Given the description of an element on the screen output the (x, y) to click on. 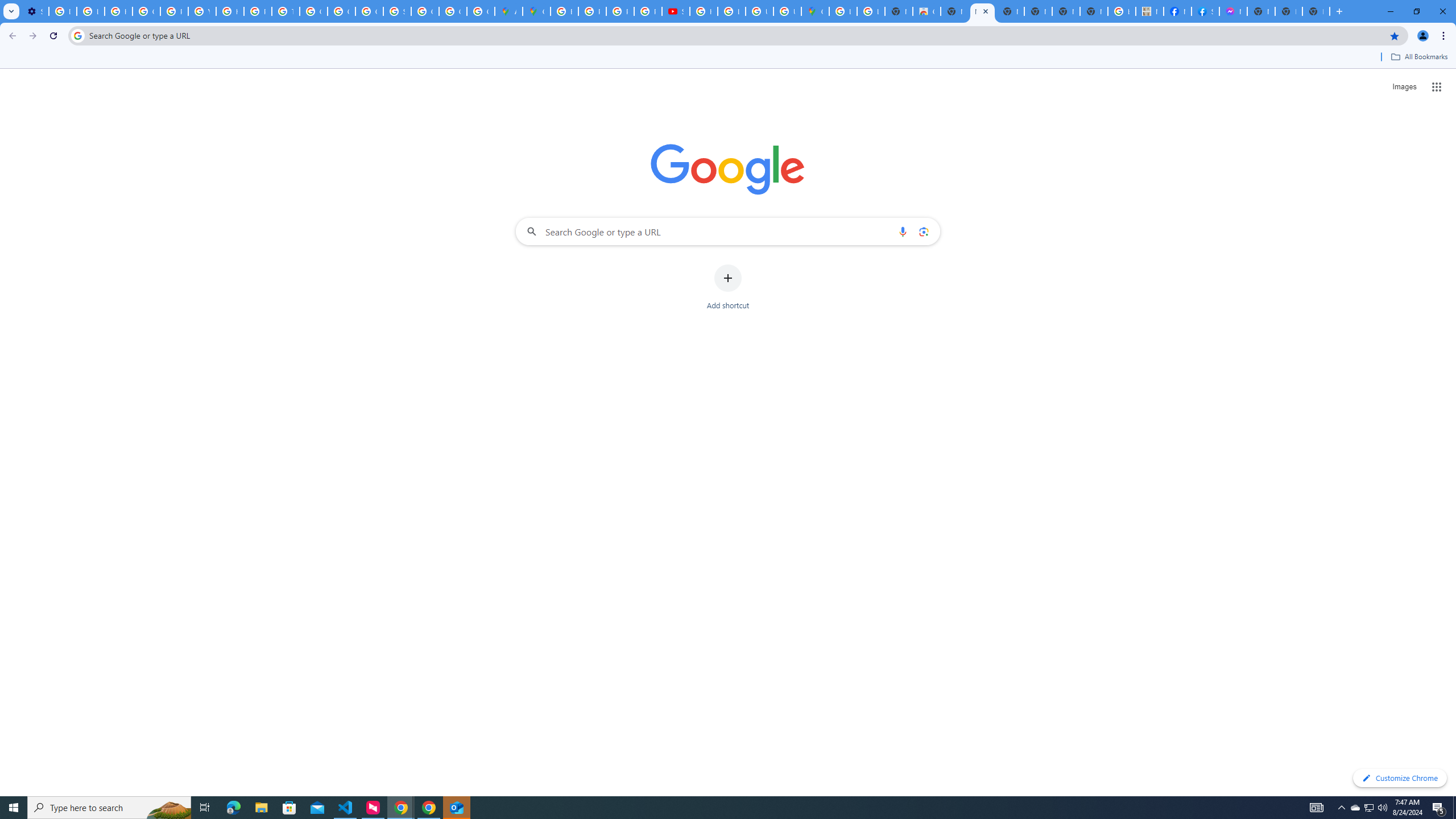
Messenger (1233, 11)
Search by image (922, 230)
